Given the description of an element on the screen output the (x, y) to click on. 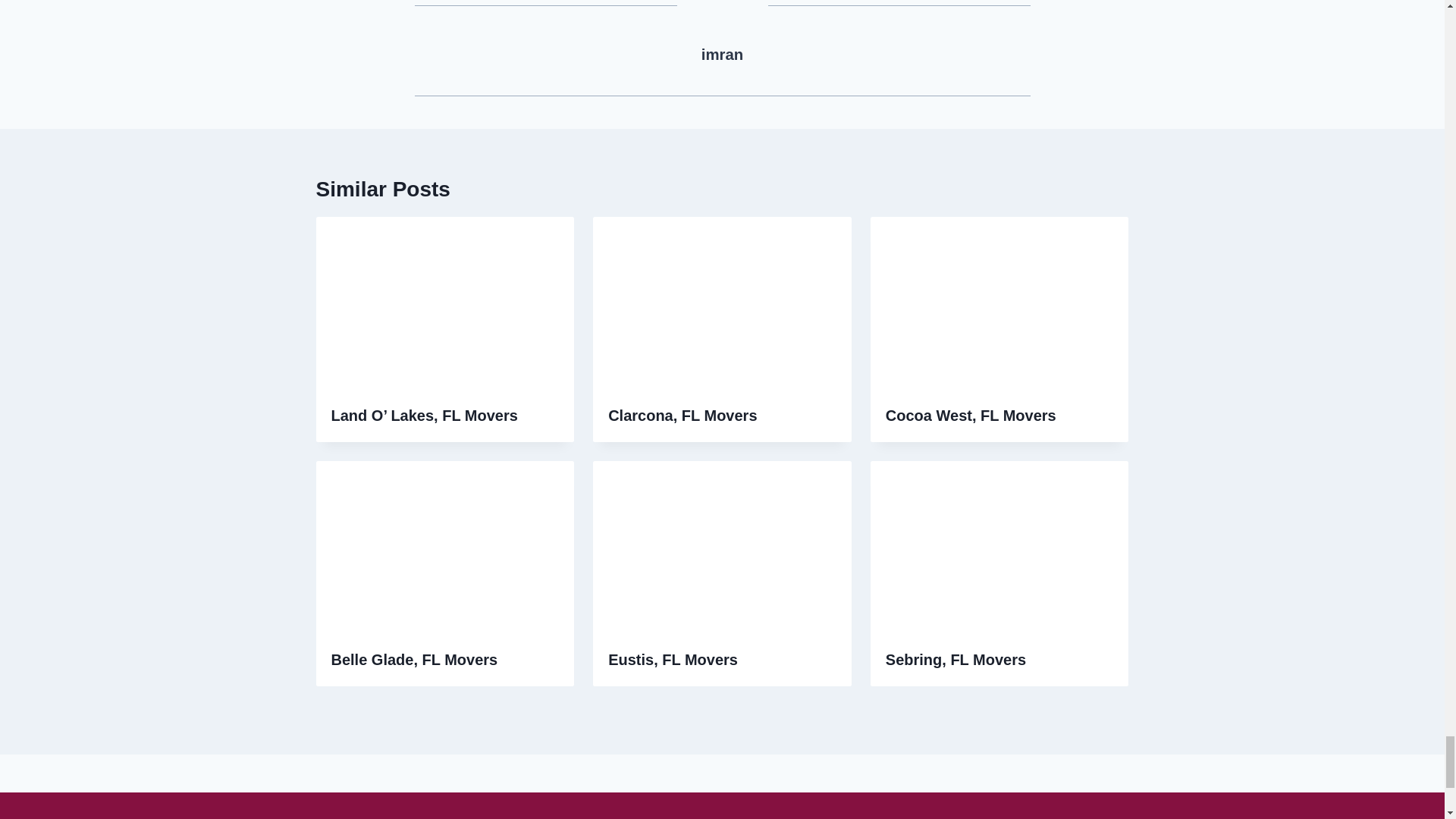
Posts by imran (722, 54)
imran (722, 54)
